Given the description of an element on the screen output the (x, y) to click on. 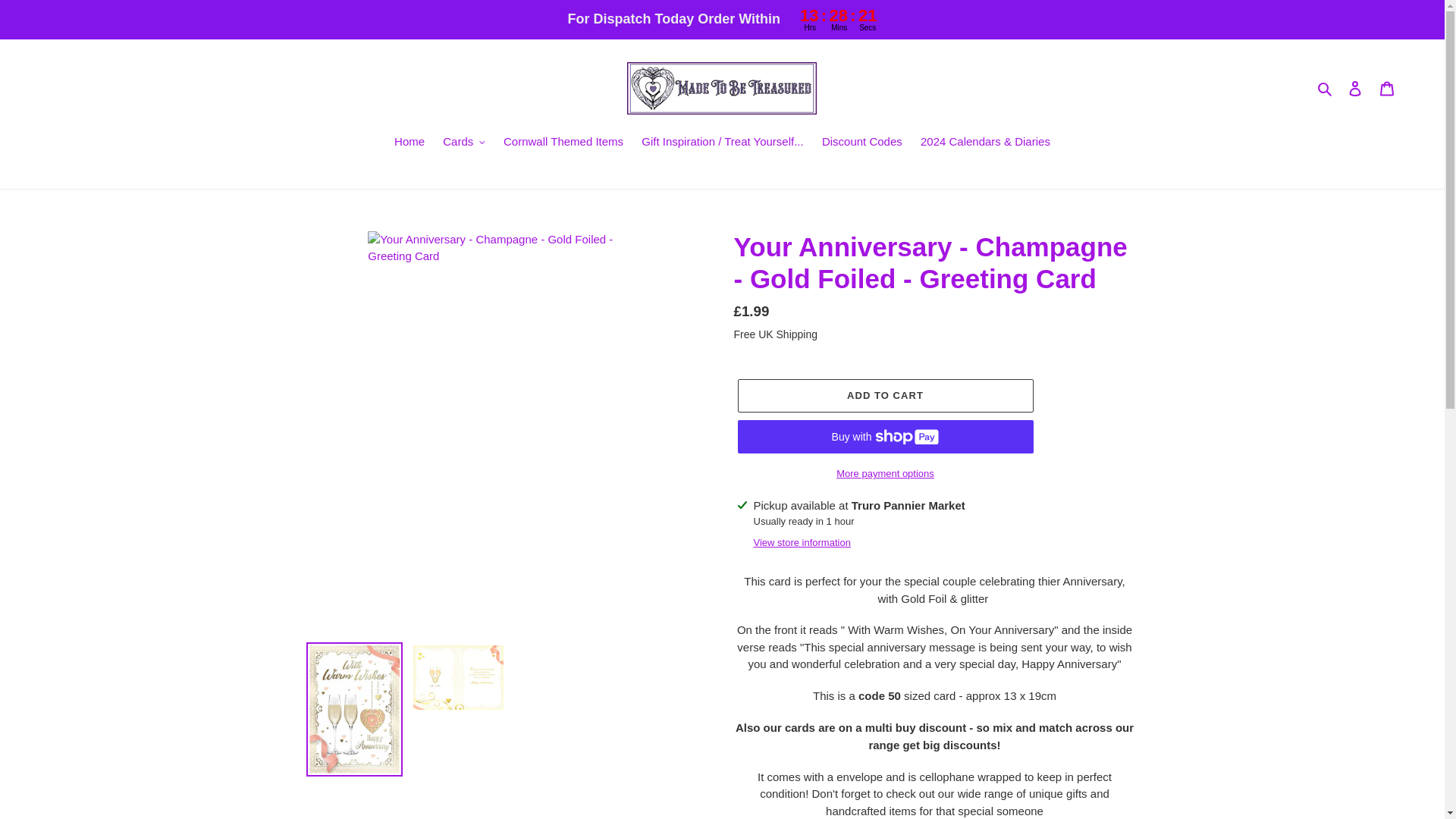
Search (1326, 87)
Cart (1387, 88)
Log in (1355, 88)
Cards (464, 143)
Home (409, 143)
